Given the description of an element on the screen output the (x, y) to click on. 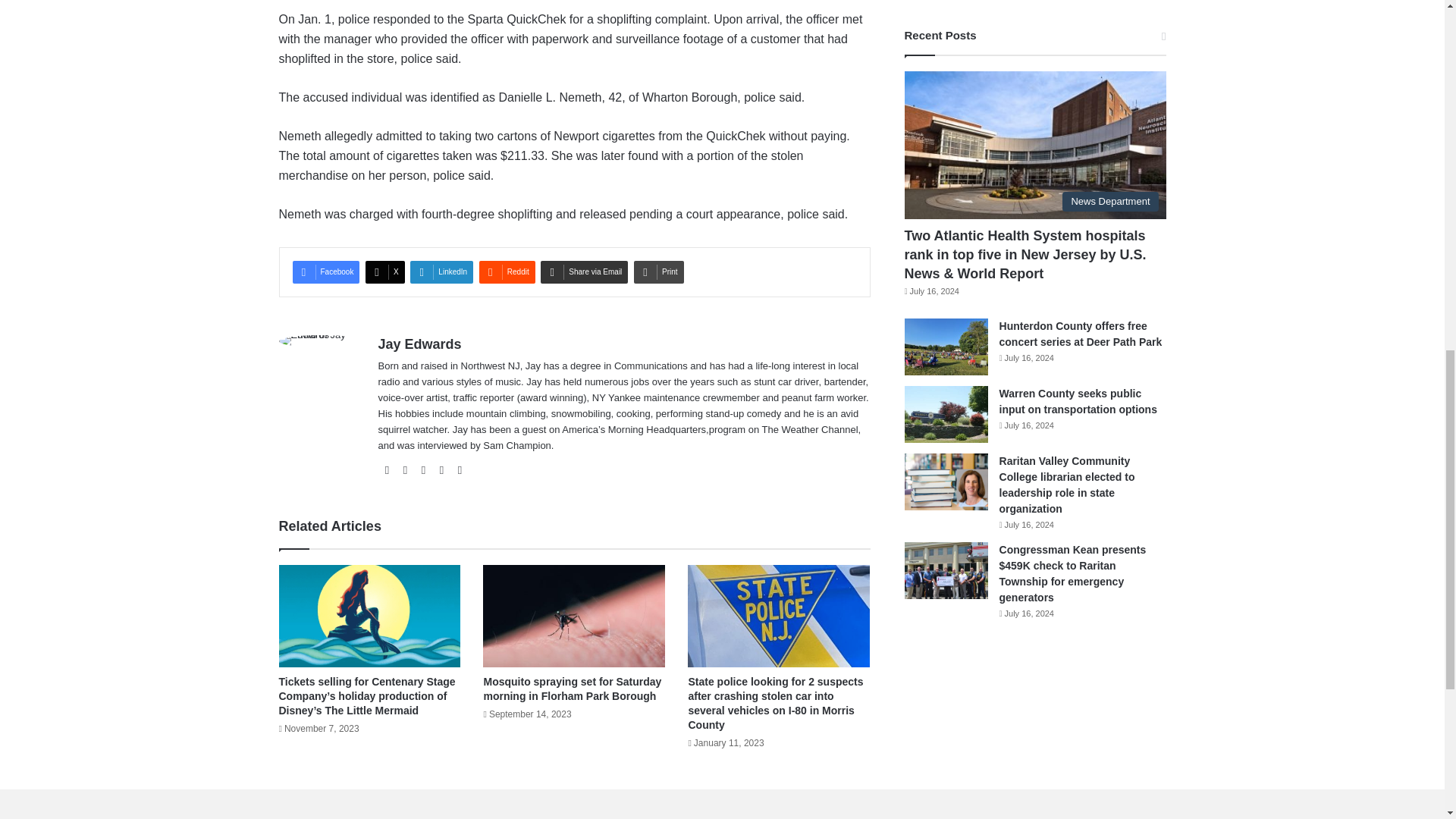
Reddit (507, 272)
Print (658, 272)
X (384, 272)
LinkedIn (441, 272)
Share via Email (583, 272)
Facebook (325, 272)
